Given the description of an element on the screen output the (x, y) to click on. 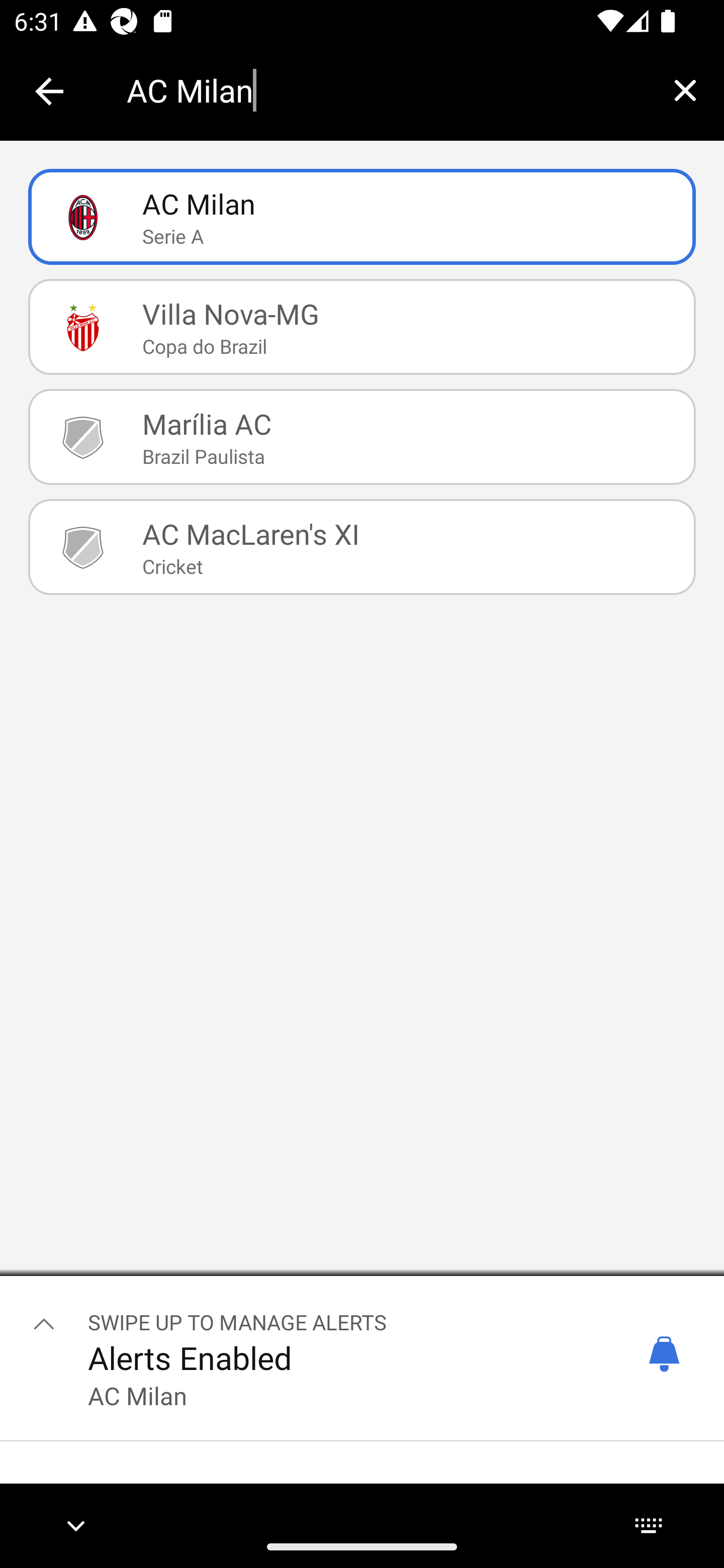
Collapse (49, 91)
Clear query (685, 89)
AC Milan (386, 90)
AC Milan AC MilanSelected Serie A (361, 216)
Villa Nova-MG Copa do Brazil (361, 326)
Marília AC Brazil Paulista (361, 436)
AC MacLaren's XI Cricket (361, 546)
 (44, 1323)
